Given the description of an element on the screen output the (x, y) to click on. 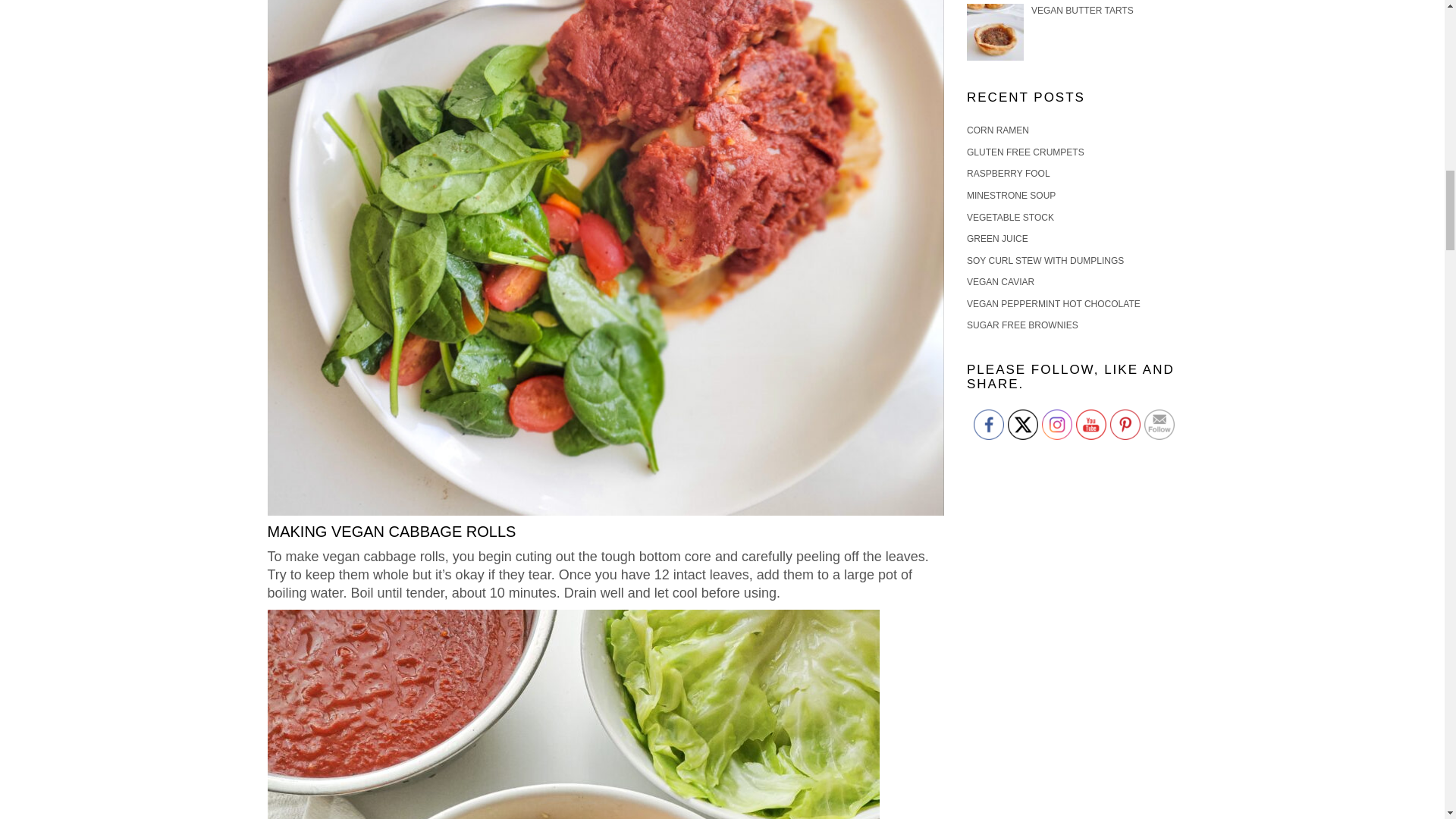
Twitter (1022, 424)
Facebook (989, 424)
YouTube (1090, 424)
Pinterest (1124, 424)
